Given the description of an element on the screen output the (x, y) to click on. 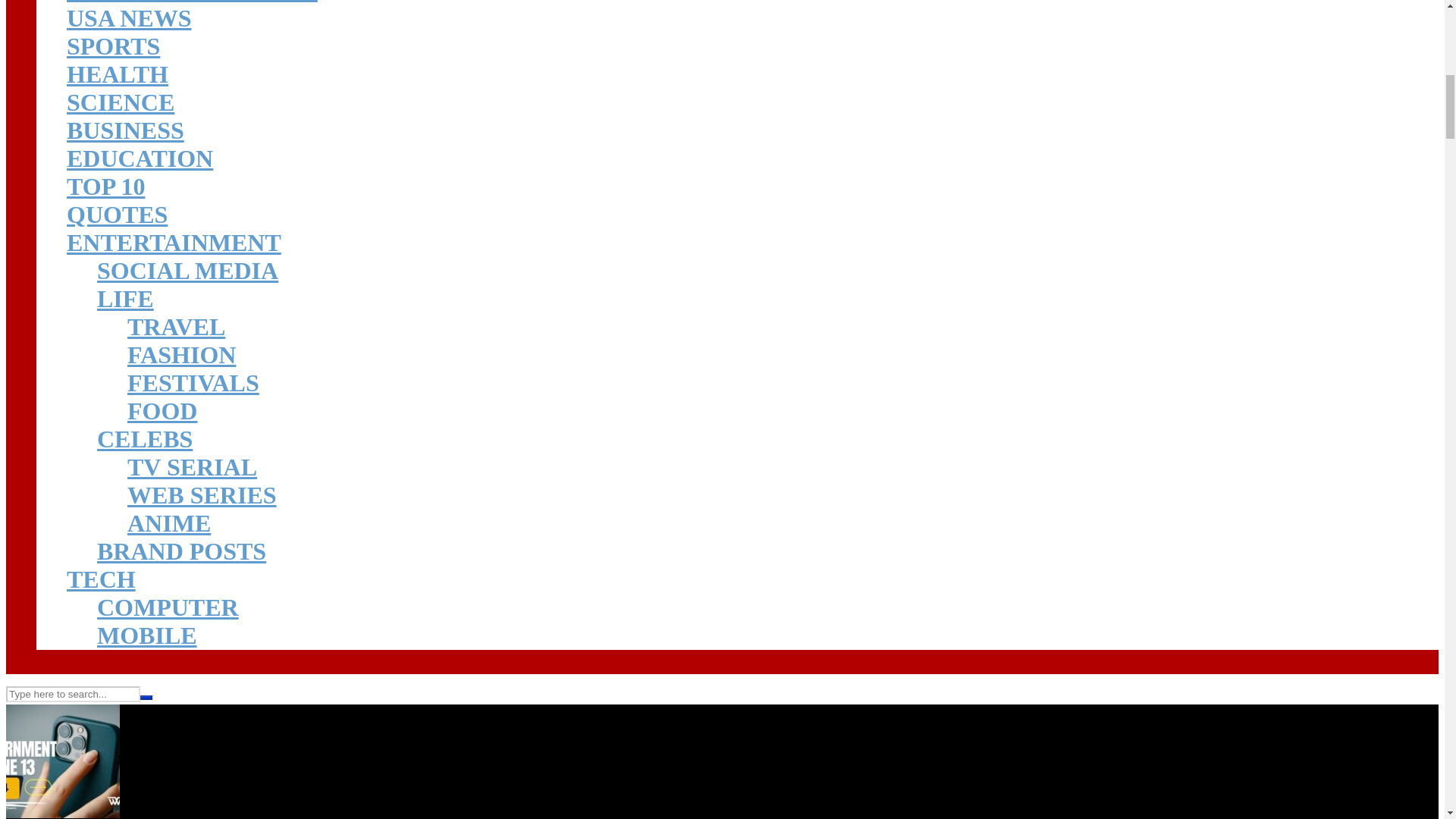
BUSINESS (125, 130)
TRAVEL (176, 326)
Free iPhone 13 Government Phone for Everyone (62, 806)
TOP 10 (105, 185)
FASHION (181, 354)
USA NEWS (129, 17)
HEALTH (117, 73)
EDUCATION (139, 157)
LIFE (125, 298)
FESTIVALS (193, 382)
SCIENCE (120, 102)
SPORTS (113, 45)
ENTERTAINMENT (173, 242)
NEWS AND POLITICS (191, 2)
QUOTES (116, 214)
